Given the description of an element on the screen output the (x, y) to click on. 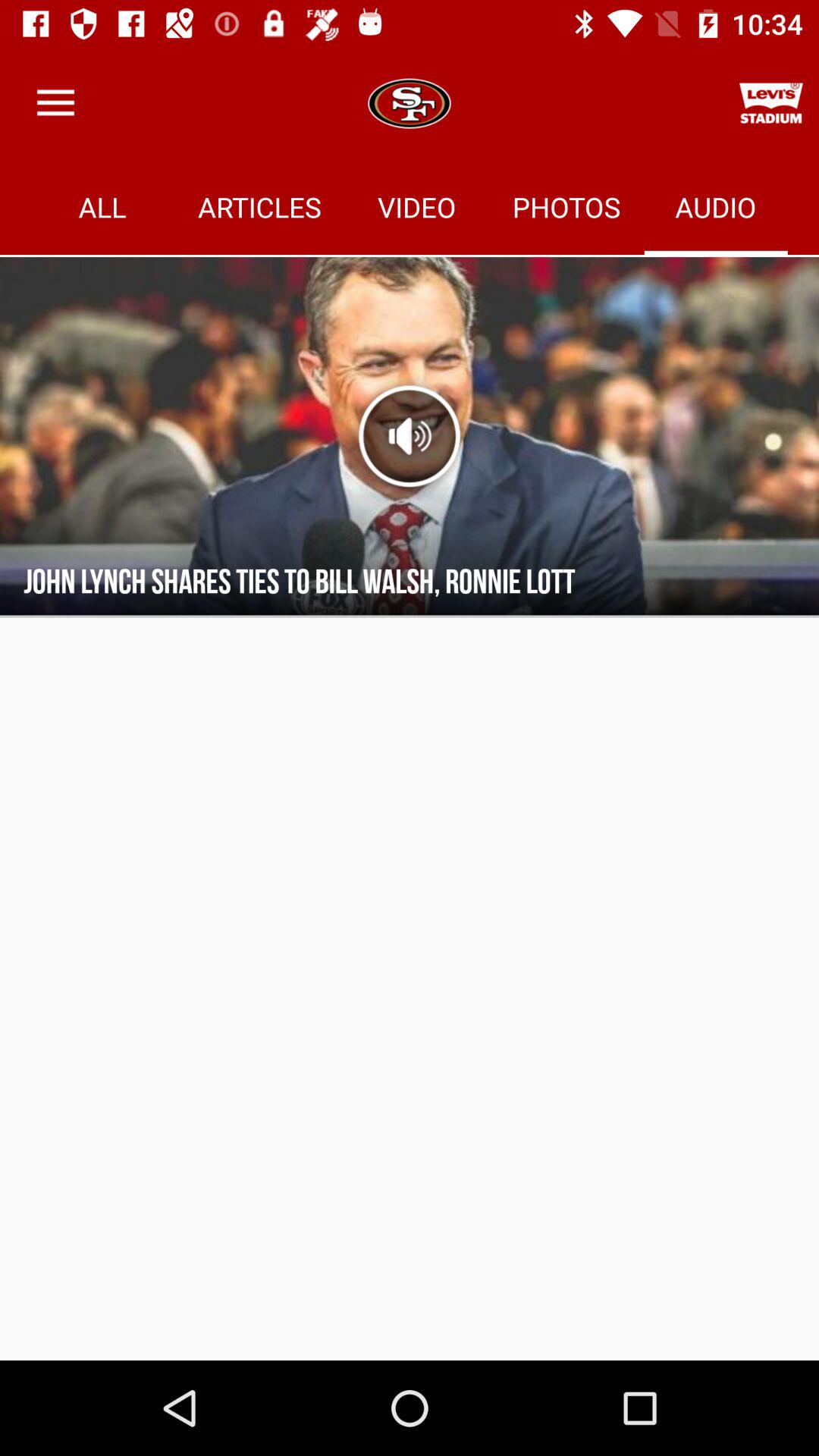
turn on icon above all item (55, 103)
